Given the description of an element on the screen output the (x, y) to click on. 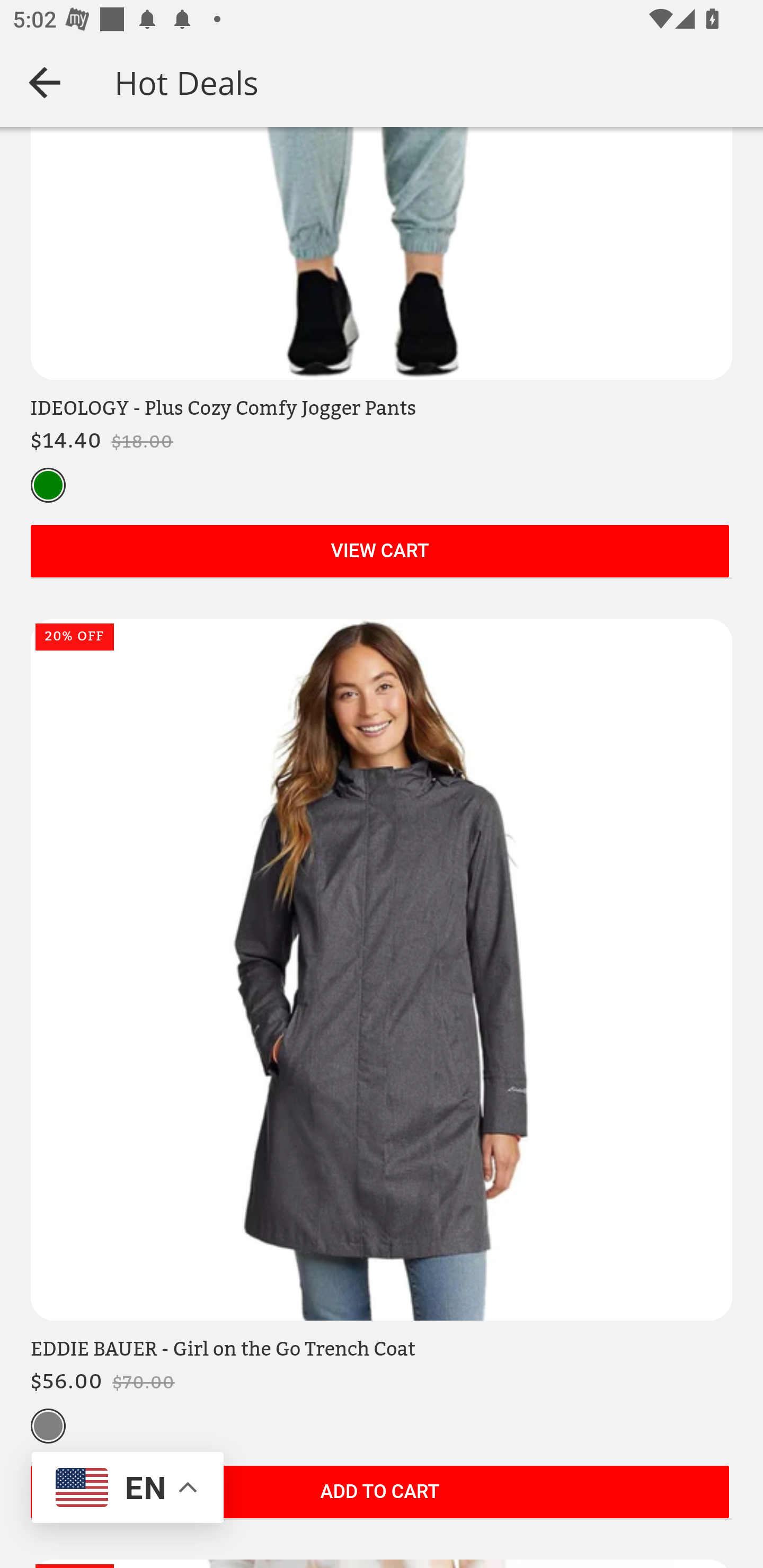
Navigate up (44, 82)
Green (48, 486)
VIEW CART (379, 552)
Grey (48, 1427)
ADD TO CART (379, 1493)
